Given the description of an element on the screen output the (x, y) to click on. 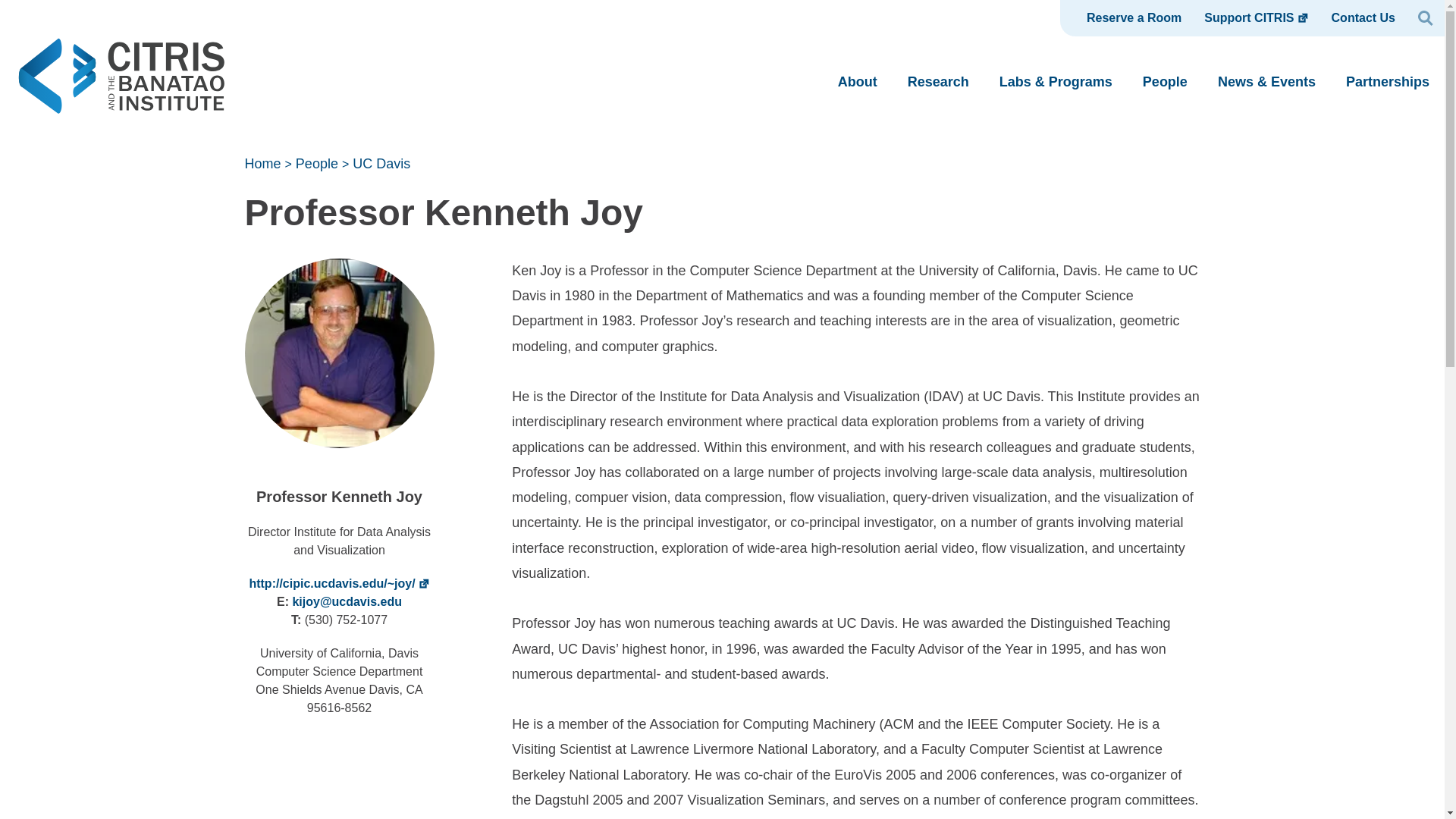
People (1165, 81)
Research (938, 81)
CITRIS and the Banatao Institute (117, 127)
About (857, 81)
Contact Us (1363, 18)
Reserve a Room (1125, 18)
Go to UC Davis. (381, 163)
Open Search (1425, 18)
Support CITRIS (1255, 18)
